Given the description of an element on the screen output the (x, y) to click on. 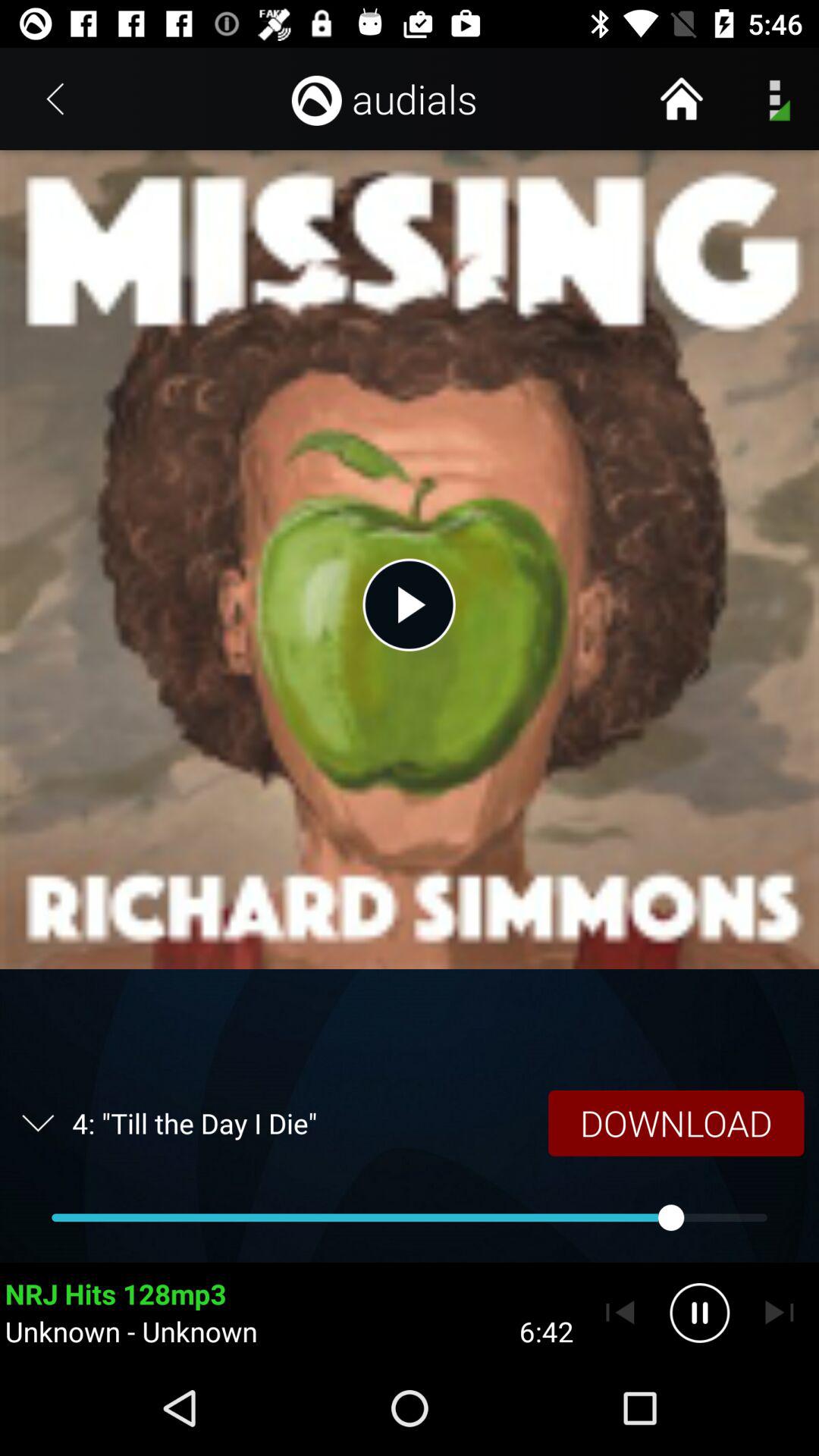
play a video (408, 604)
